Given the description of an element on the screen output the (x, y) to click on. 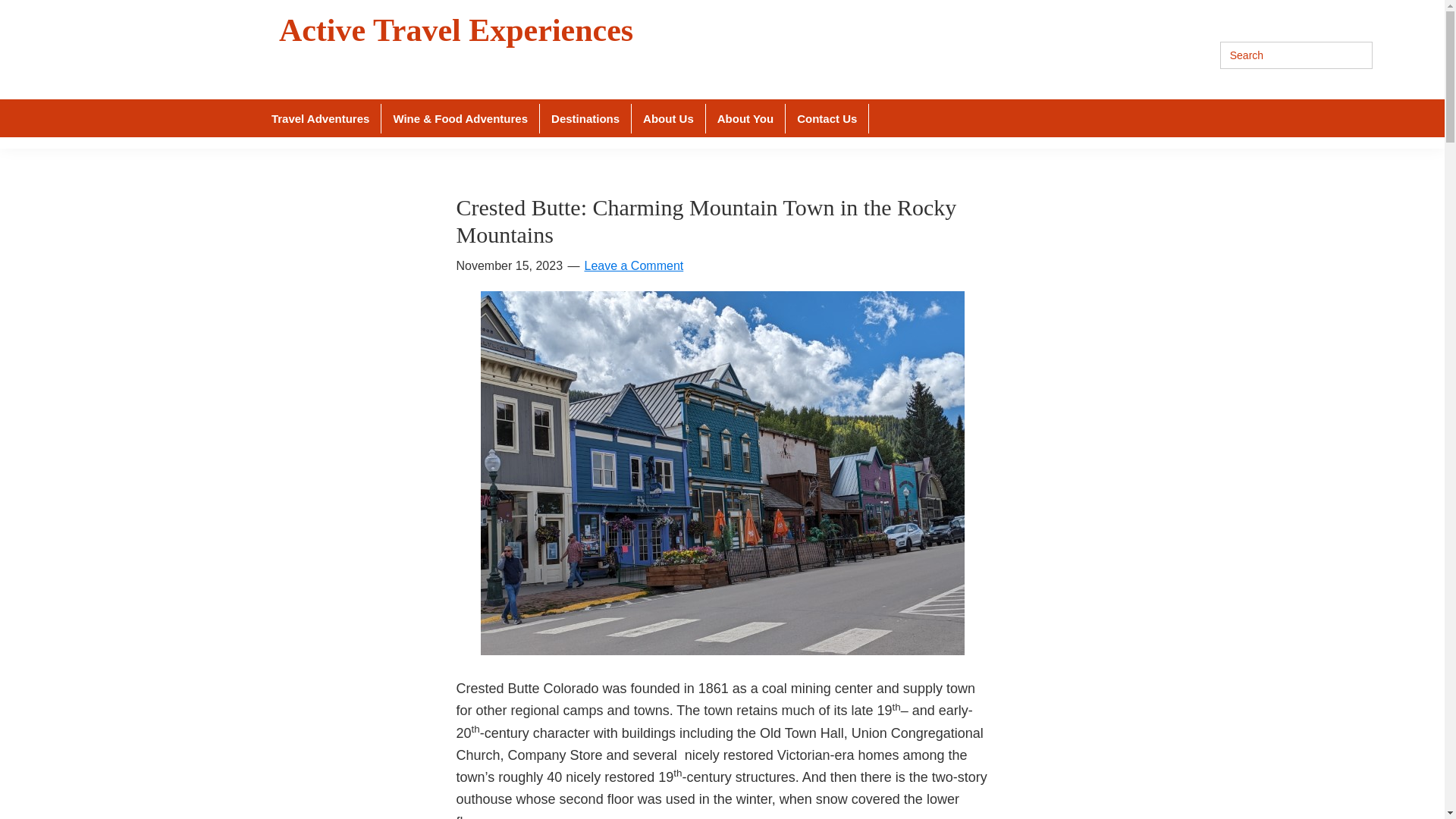
About You (746, 117)
Active Travel Experiences (456, 30)
About You (746, 117)
Destinations (585, 117)
Leave a Comment (632, 265)
Destinations (585, 117)
Travel Adventures (320, 117)
Contact Us (827, 117)
Contact Us (827, 117)
Active Travel Experiences (456, 30)
About Us (668, 117)
Leave a Comment (632, 265)
Travel Adventures (320, 117)
